Given the description of an element on the screen output the (x, y) to click on. 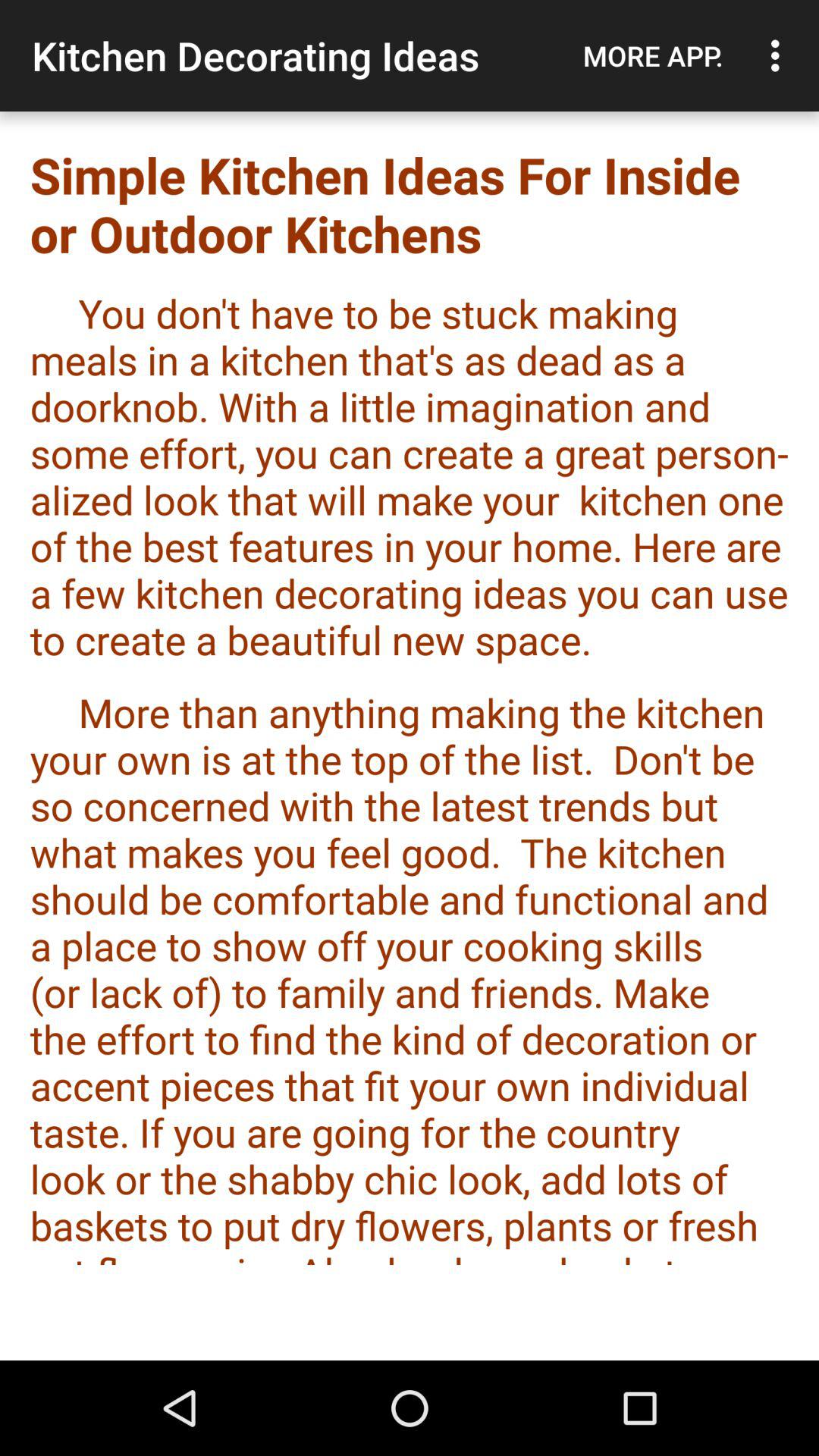
turn on item above simple kitchen ideas icon (779, 55)
